Given the description of an element on the screen output the (x, y) to click on. 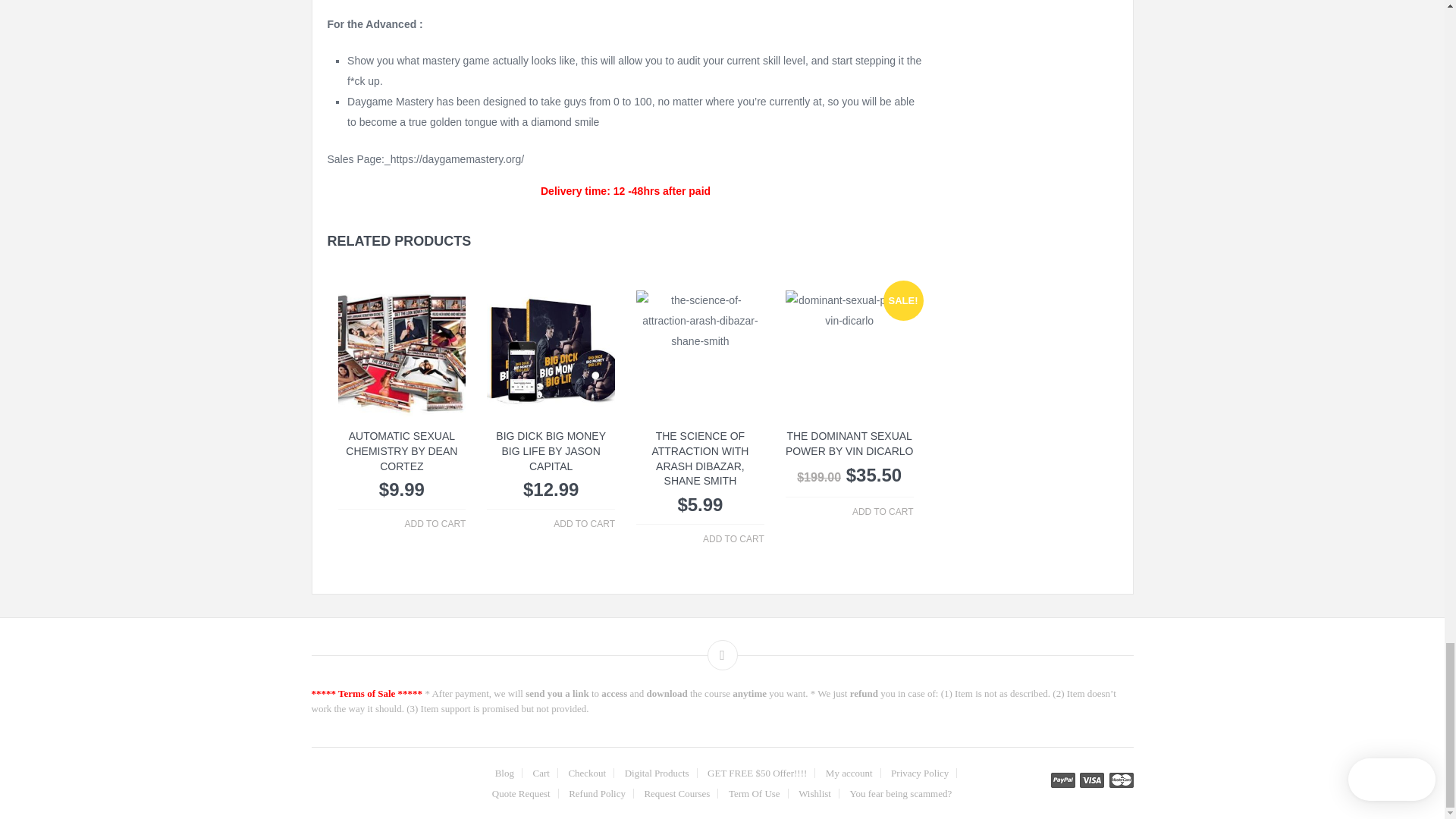
VISA (1091, 780)
Master Card (1120, 780)
PayPal (1063, 780)
ADD TO CART (434, 524)
